Given the description of an element on the screen output the (x, y) to click on. 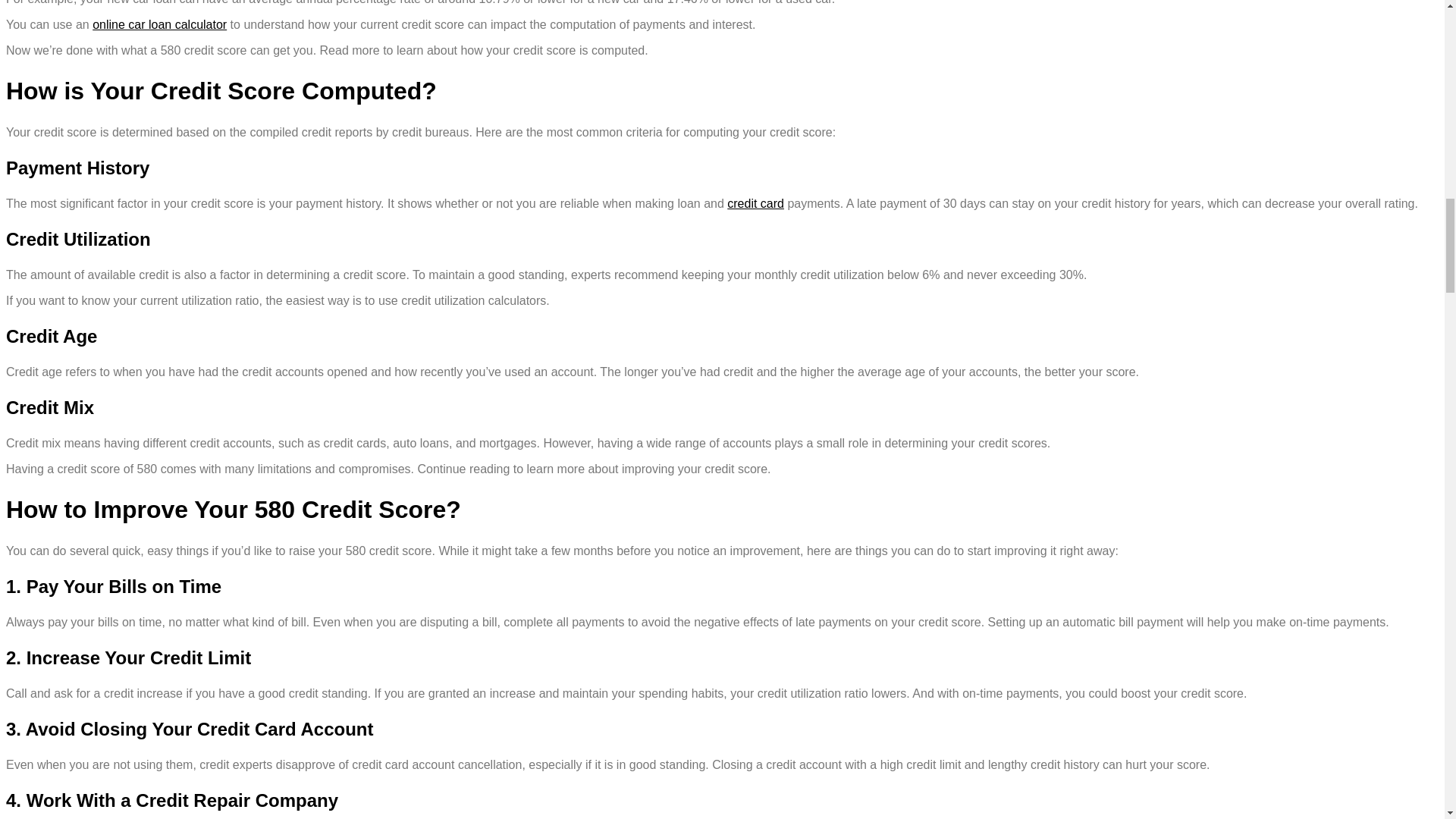
credit card (755, 203)
online car loan calculator (160, 24)
